Given the description of an element on the screen output the (x, y) to click on. 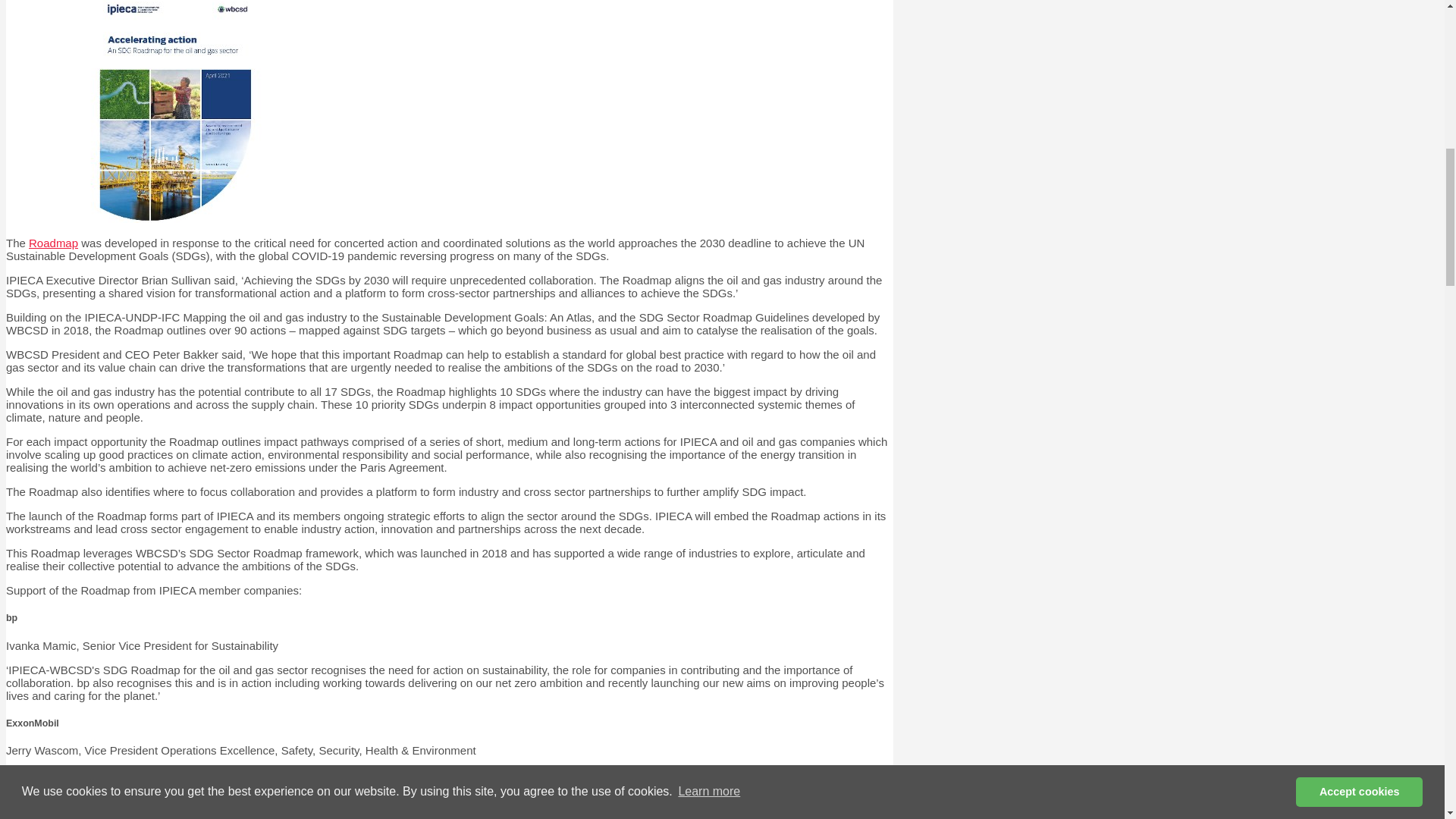
Roadmap (53, 242)
